Given the description of an element on the screen output the (x, y) to click on. 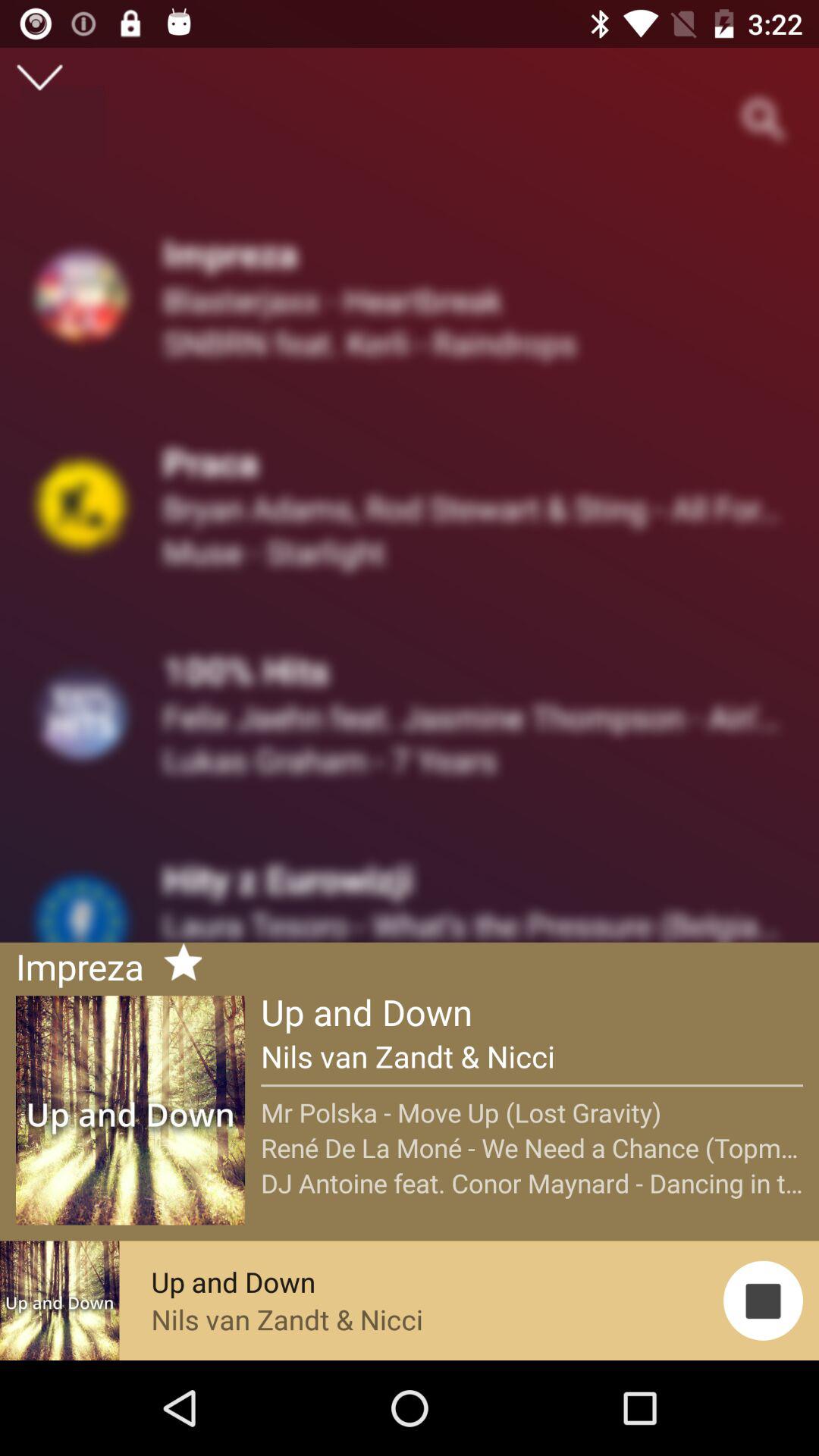
choose the item at the bottom right corner (763, 1300)
